Given the description of an element on the screen output the (x, y) to click on. 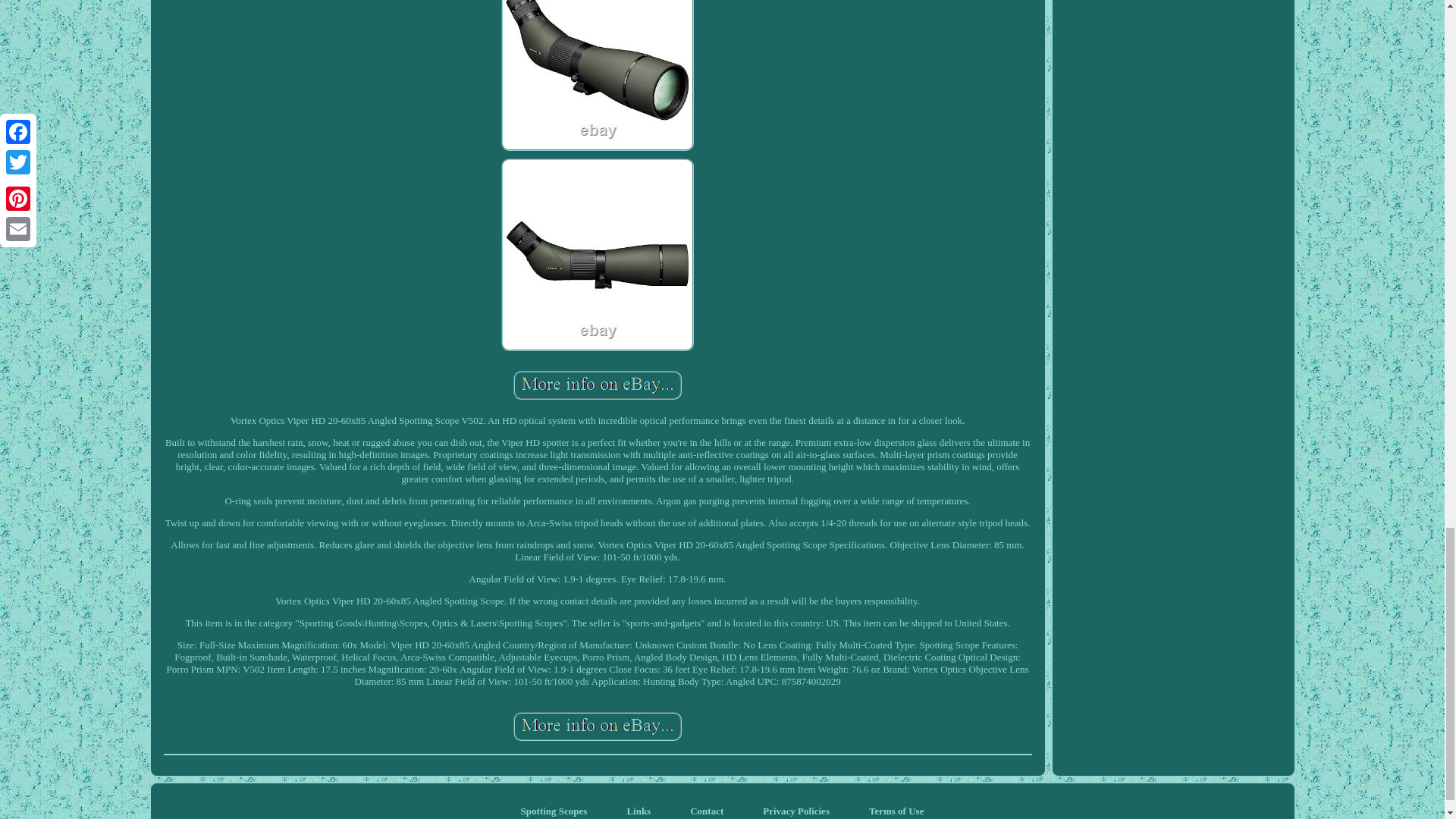
Vortex Optics Viper HD 20-60x85 Angled Spotting Scope V502 (597, 74)
Vortex Optics Viper HD 20-60x85 Angled Spotting Scope V502 (597, 725)
Vortex Optics Viper HD 20-60x85 Angled Spotting Scope V502 (597, 254)
Vortex Optics Viper HD 20-60x85 Angled Spotting Scope V502 (597, 384)
